Given the description of an element on the screen output the (x, y) to click on. 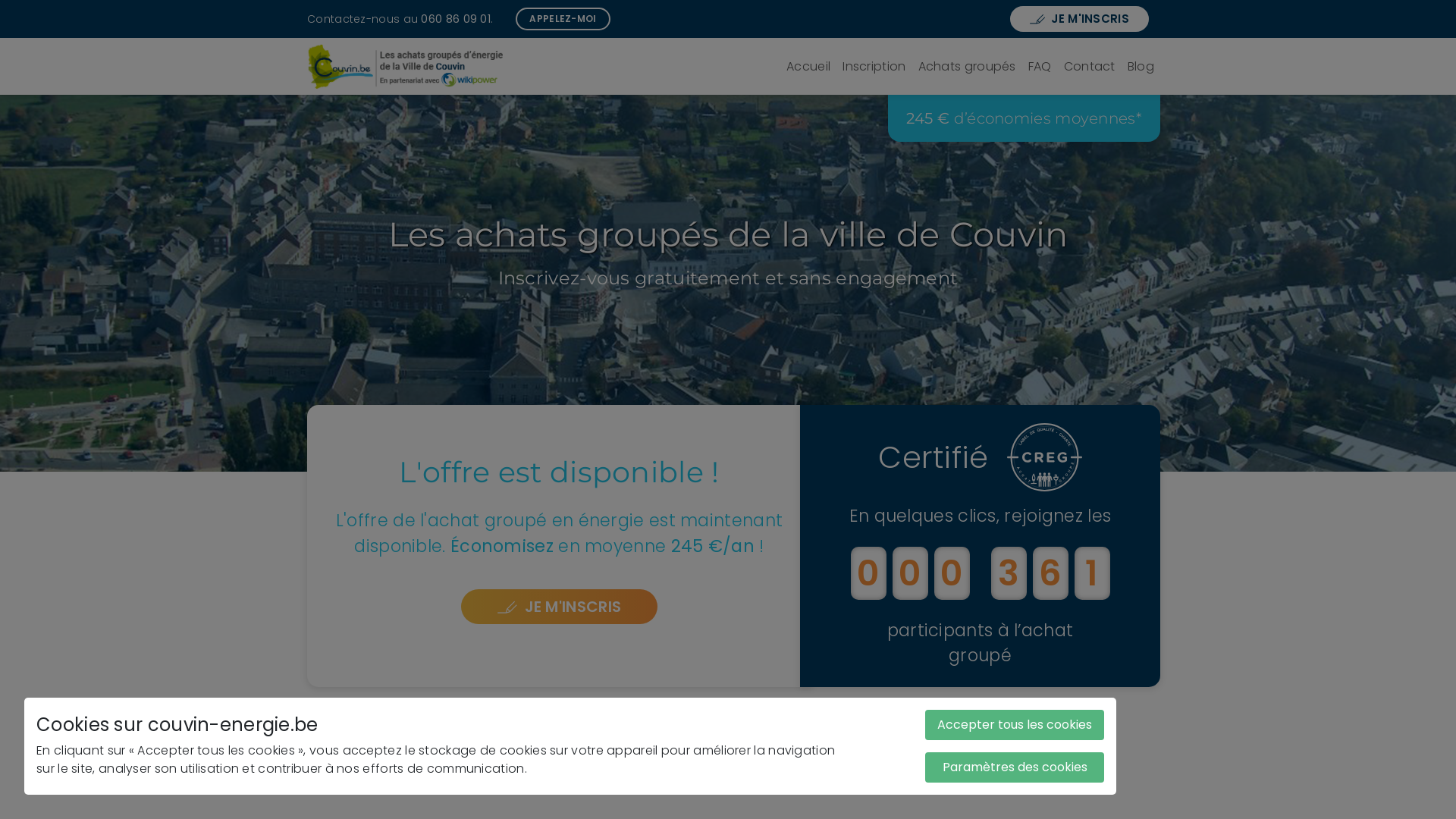
JE M'INSCRIS Element type: text (1079, 19)
Accepter tous les cookies Element type: text (1014, 724)
Contact Element type: text (1089, 66)
APPELEZ-MOI Element type: text (562, 18)
Blog Element type: text (1140, 66)
FAQ Element type: text (1039, 66)
Accueil Element type: text (808, 66)
Inscription Element type: text (873, 66)
JE M'INSCRIS Element type: text (559, 606)
060 86 09 01 Element type: text (455, 17)
